Given the description of an element on the screen output the (x, y) to click on. 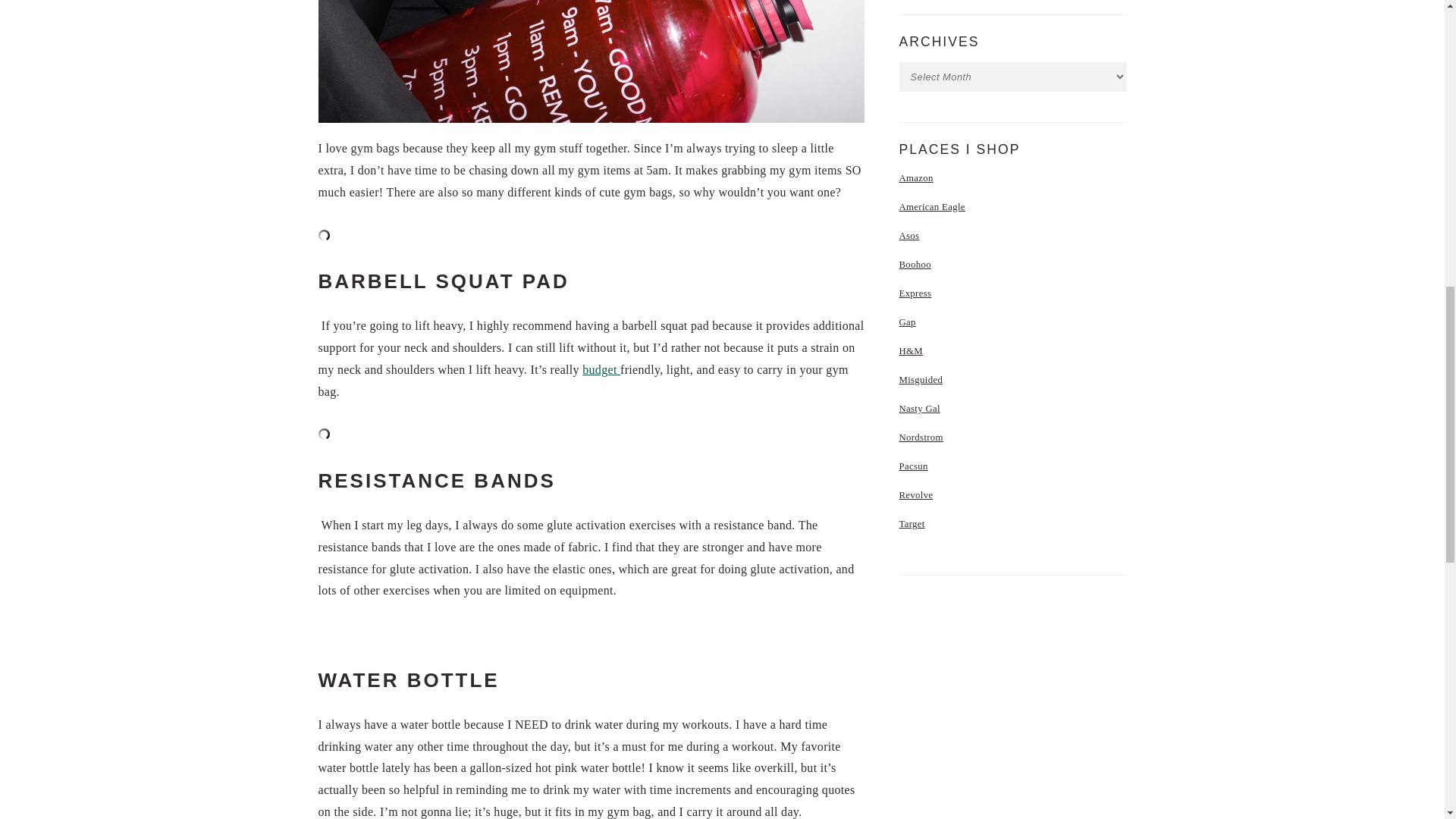
budget (601, 369)
Nordstrom (921, 437)
American Eagle (932, 206)
Revolve (916, 494)
Pacsun (913, 466)
Target (911, 523)
Boohoo (915, 264)
Gap (907, 321)
Amazon (916, 177)
Nasty Gal (919, 408)
Misguided (921, 379)
Asos (909, 235)
Express (915, 293)
